Given the description of an element on the screen output the (x, y) to click on. 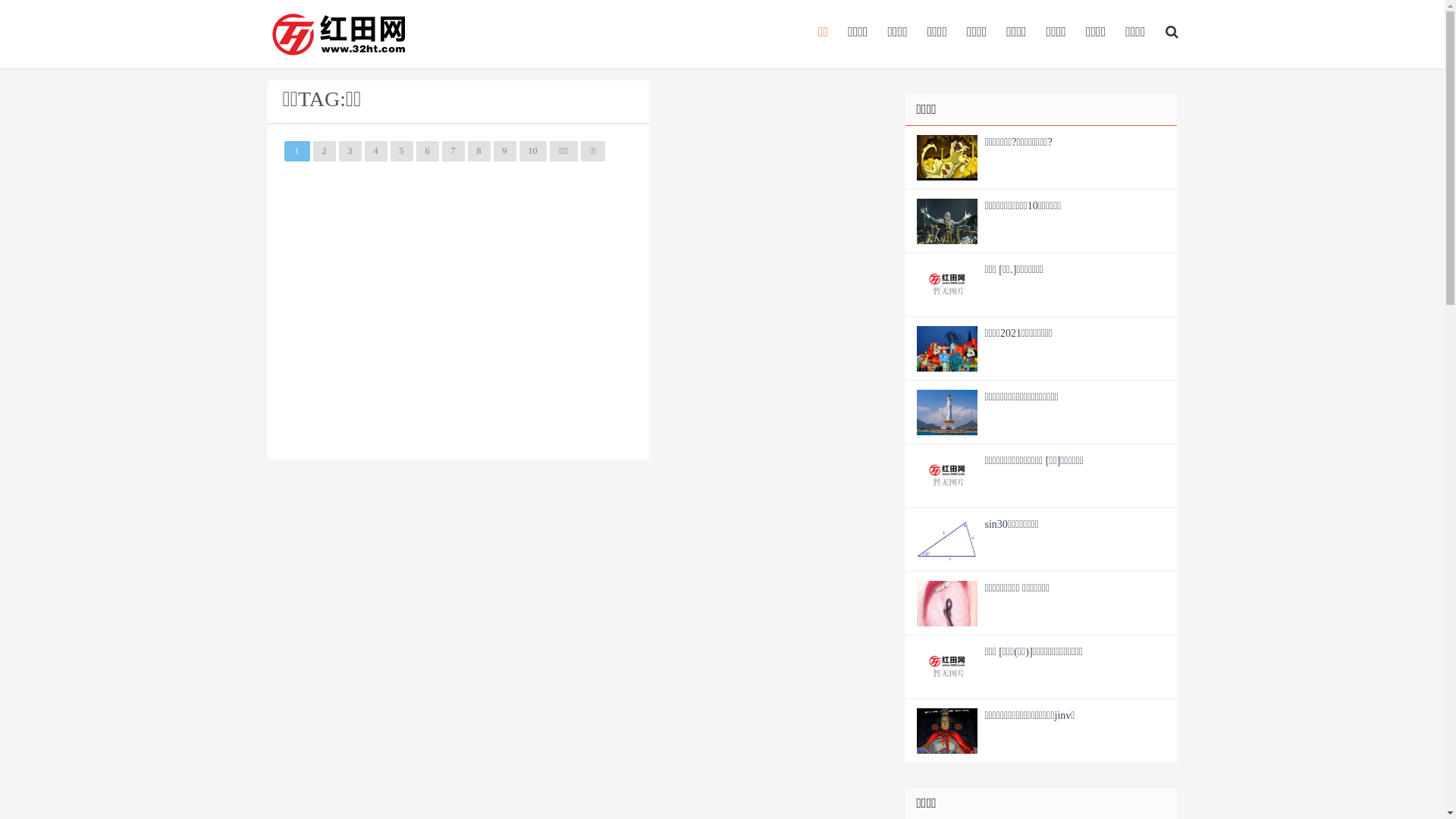
2 Element type: text (323, 151)
4 Element type: text (375, 151)
10 Element type: text (532, 151)
9 Element type: text (503, 151)
5 Element type: text (400, 151)
3 Element type: text (349, 151)
6 Element type: text (426, 151)
8 Element type: text (478, 151)
7 Element type: text (452, 151)
